Given the description of an element on the screen output the (x, y) to click on. 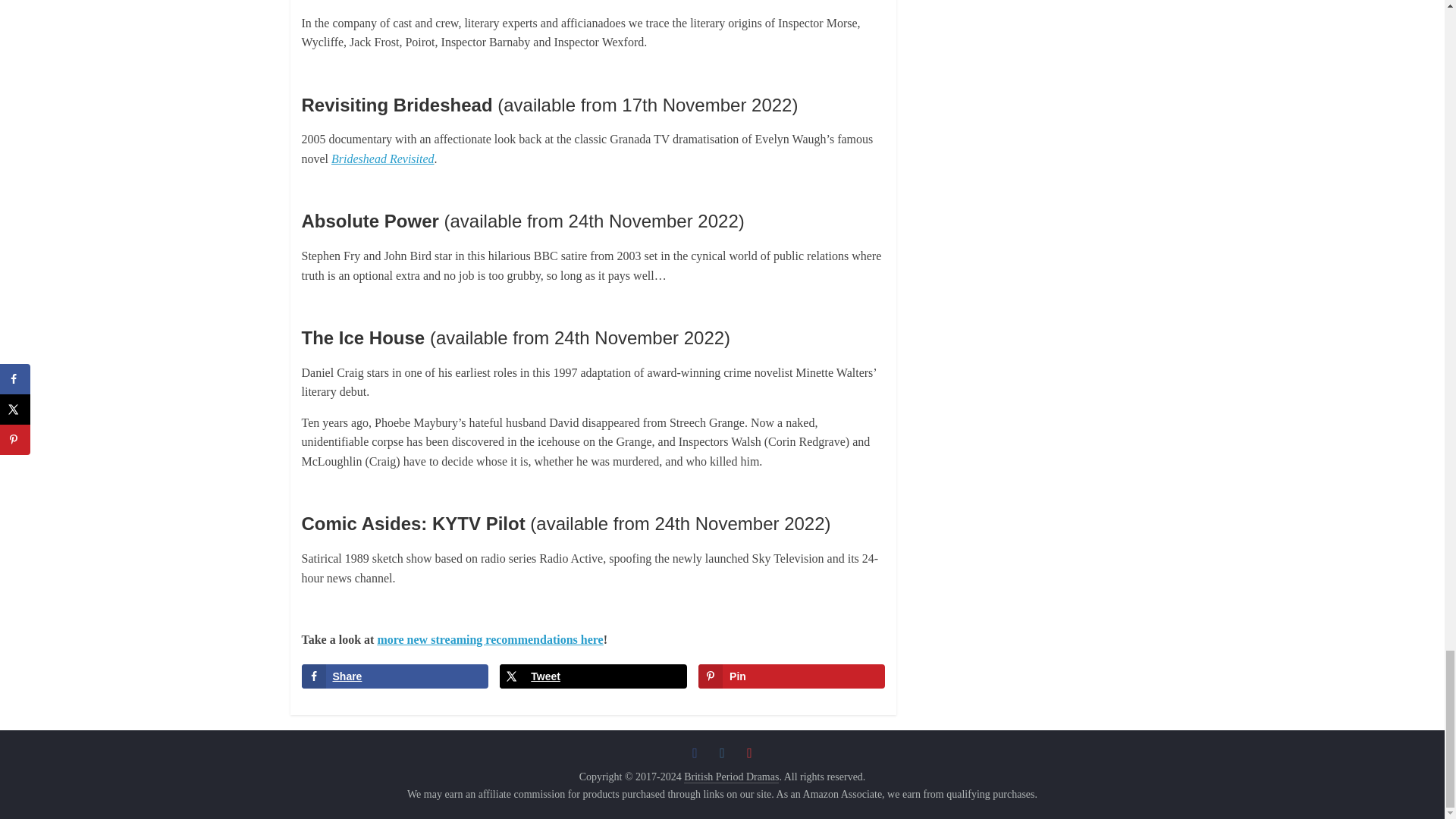
Brideshead Revisited (382, 158)
Share (394, 676)
more new streaming recommendations here (489, 639)
Pin (791, 676)
Tweet (592, 676)
Save to Pinterest (791, 676)
Share on X (592, 676)
Share on Facebook (394, 676)
